Given the description of an element on the screen output the (x, y) to click on. 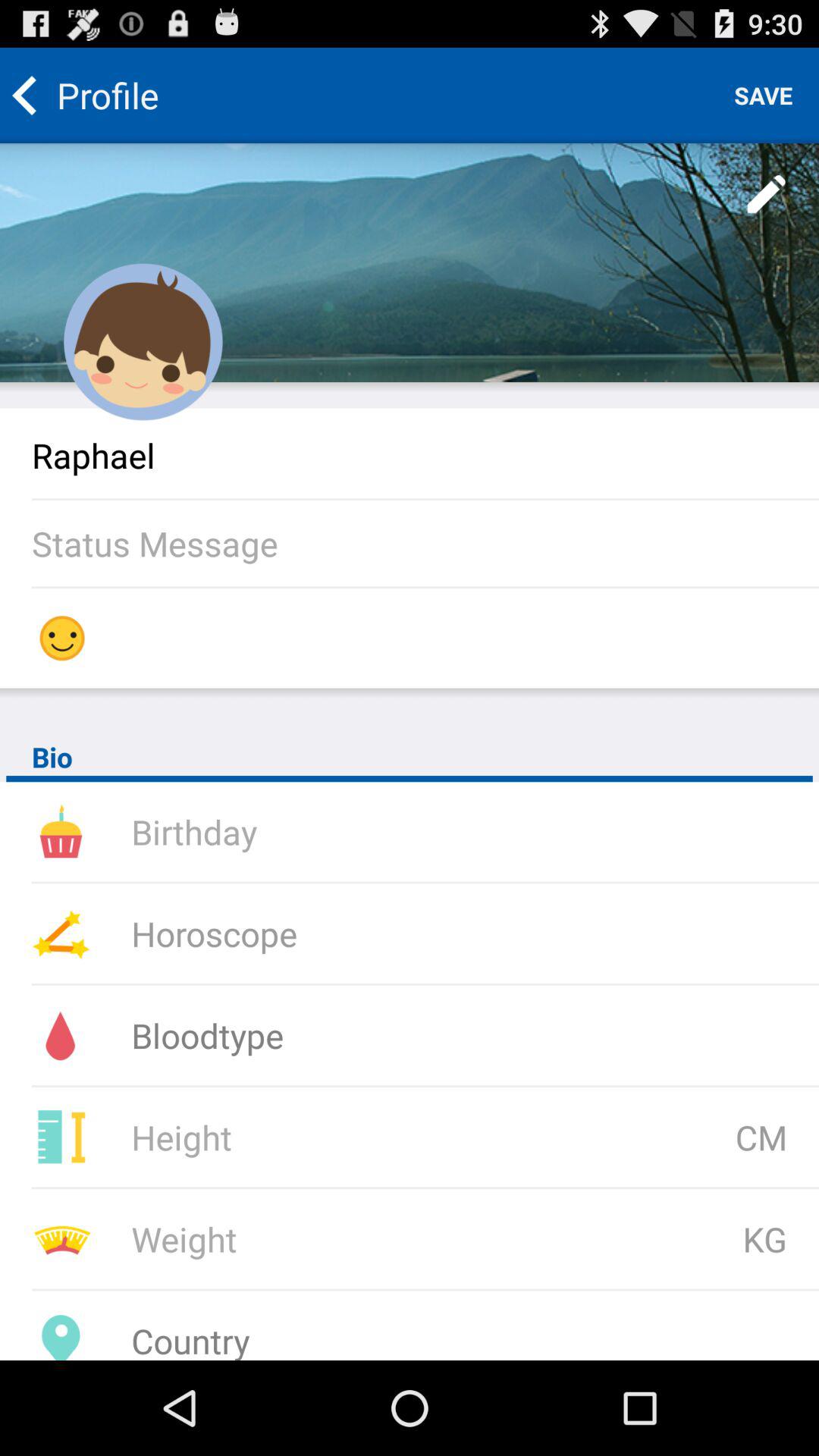
annotation (767, 194)
